Given the description of an element on the screen output the (x, y) to click on. 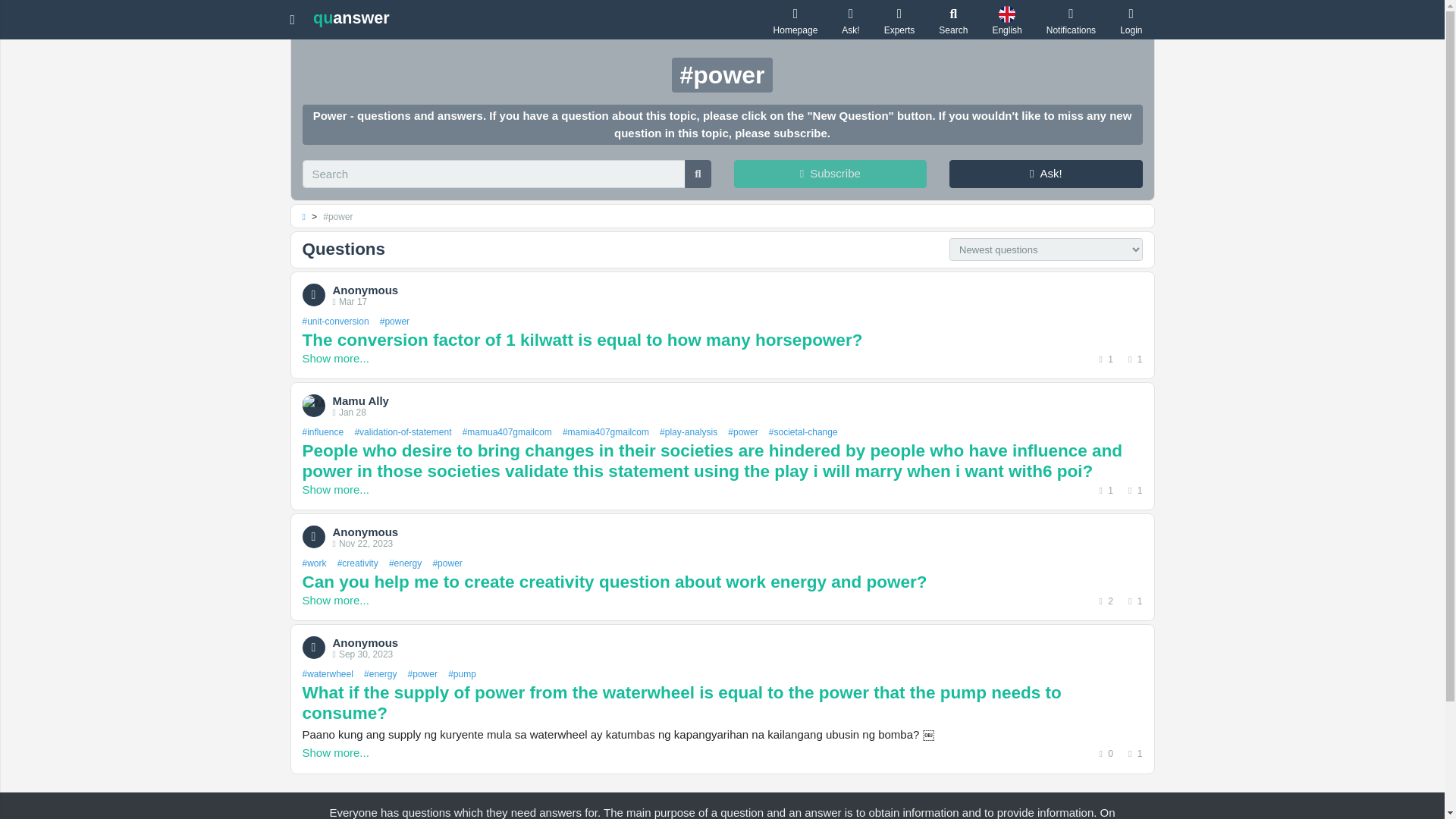
Experts (899, 19)
Search (953, 19)
Show more... (334, 489)
quanswer (351, 17)
Notifications (1071, 19)
Login (1130, 19)
Subscribe (830, 173)
English (1006, 19)
Show more... (334, 358)
Homepage (795, 19)
Ask! (1045, 173)
Ask! (849, 19)
